Given the description of an element on the screen output the (x, y) to click on. 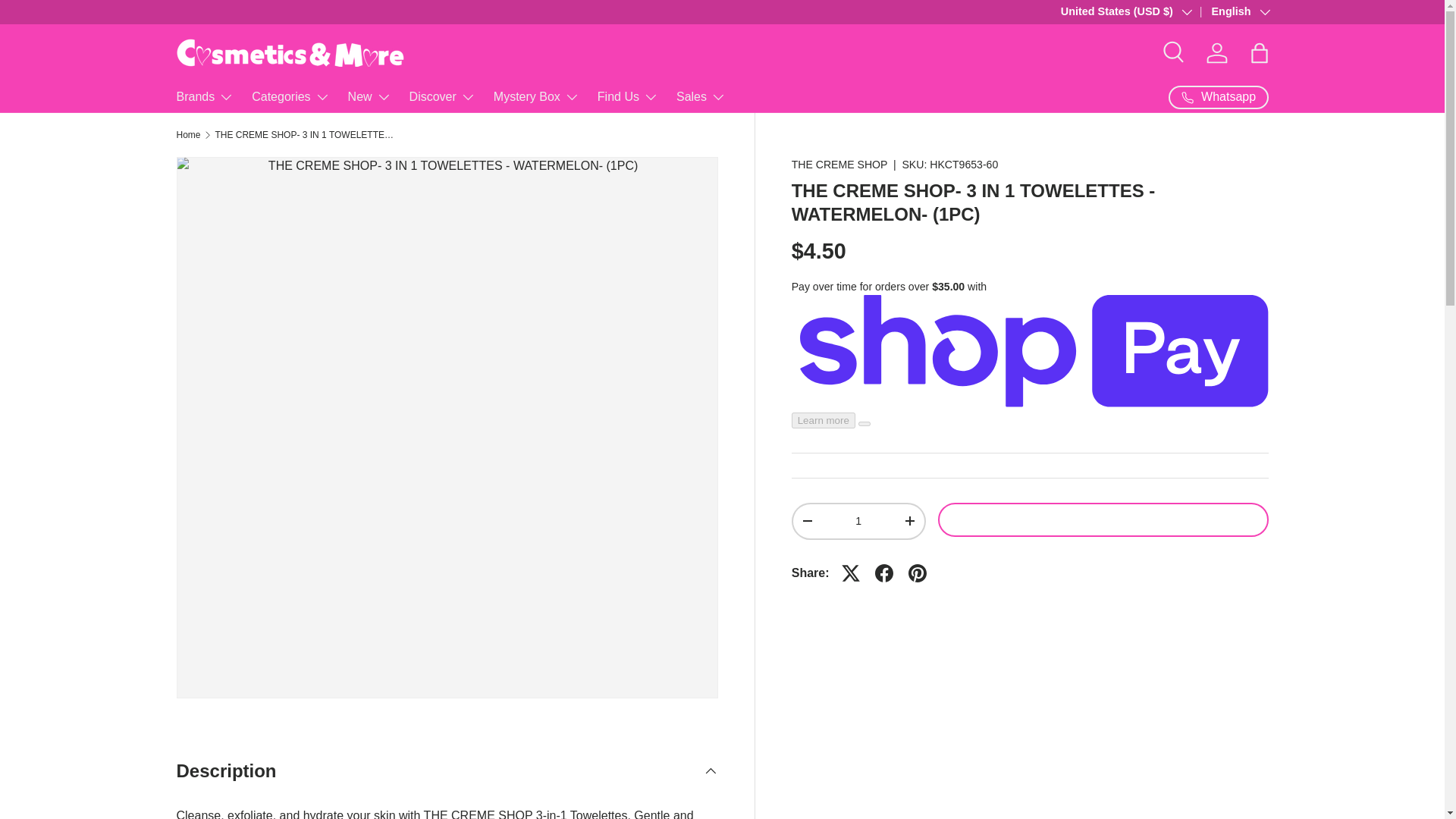
Search (1174, 52)
1 (858, 521)
Pin on Pinterest (917, 572)
Share on Facebook (884, 572)
Skip to content (69, 21)
Tweet on X (850, 572)
English (1229, 12)
Brands (204, 96)
Bag (1258, 52)
Log in (1216, 52)
